Given the description of an element on the screen output the (x, y) to click on. 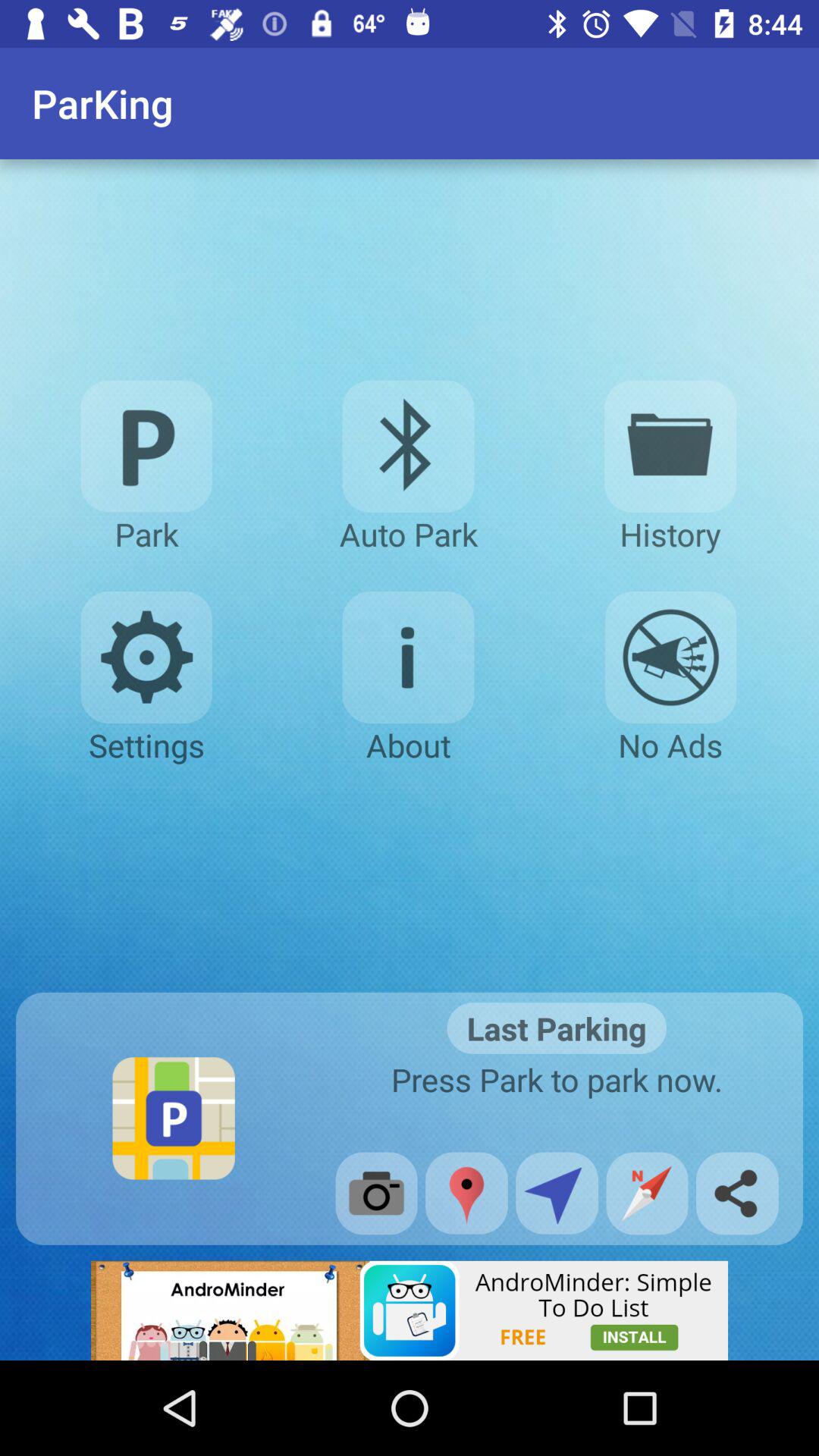
go to advertisement page (409, 1310)
